Given the description of an element on the screen output the (x, y) to click on. 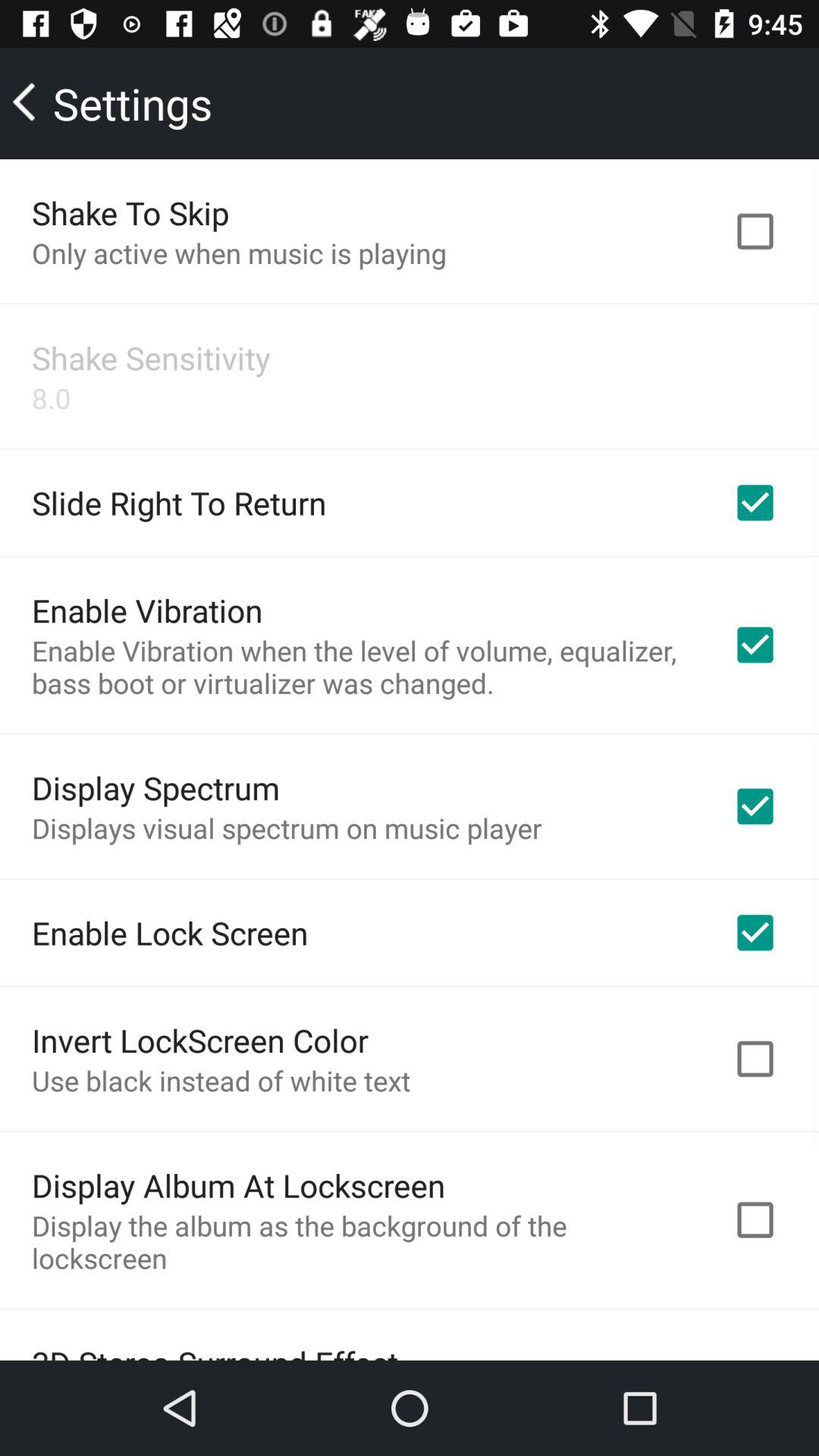
launch the 3d stereo surround item (214, 1350)
